Given the description of an element on the screen output the (x, y) to click on. 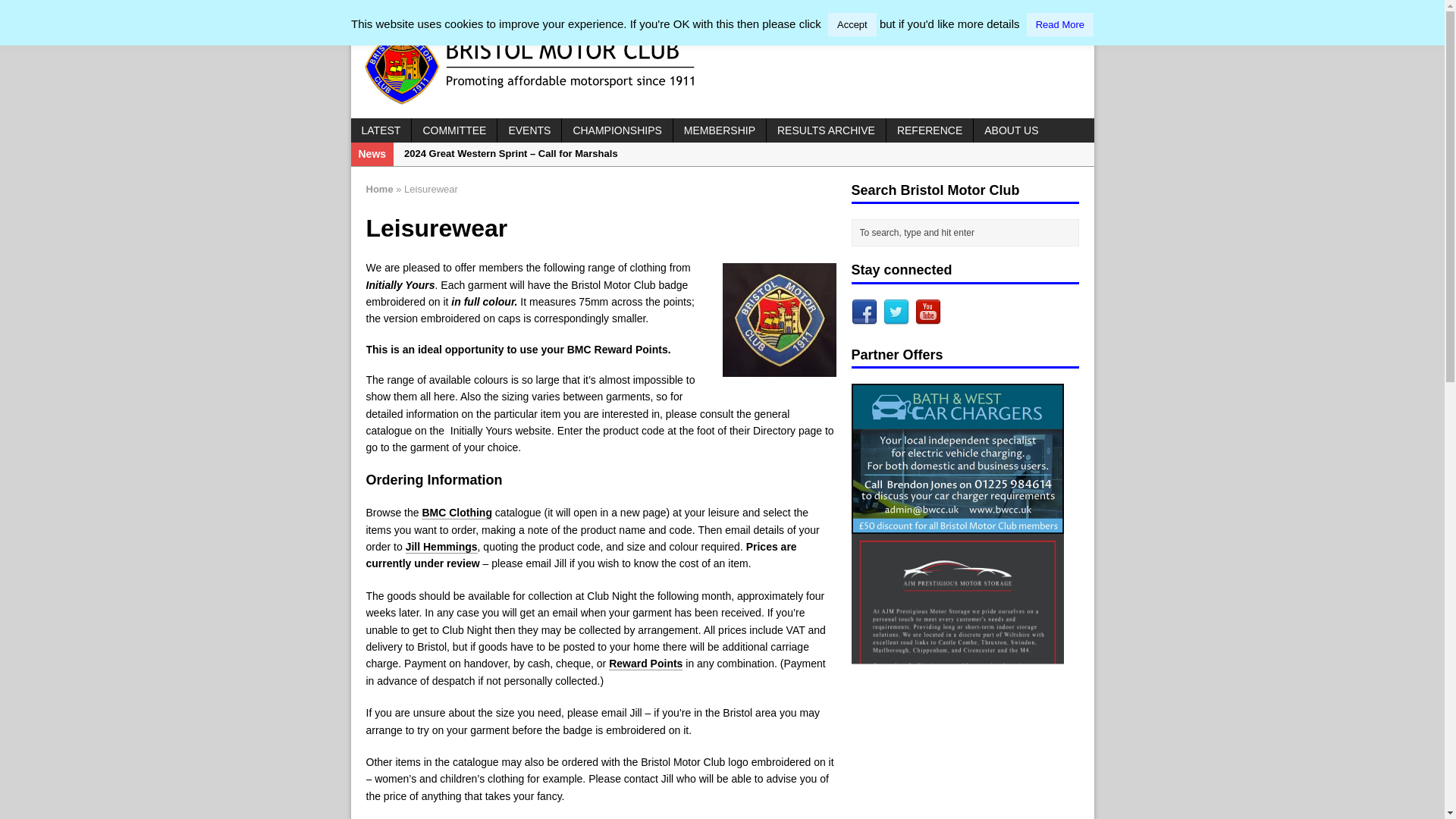
Reward Points (645, 663)
To search, type and hit enter (968, 232)
Bath West Car Chargers (956, 524)
Jill Hemmings (441, 546)
Bristol Motor Club (721, 66)
AJM Prestigious Motor Storage (956, 817)
